Given the description of an element on the screen output the (x, y) to click on. 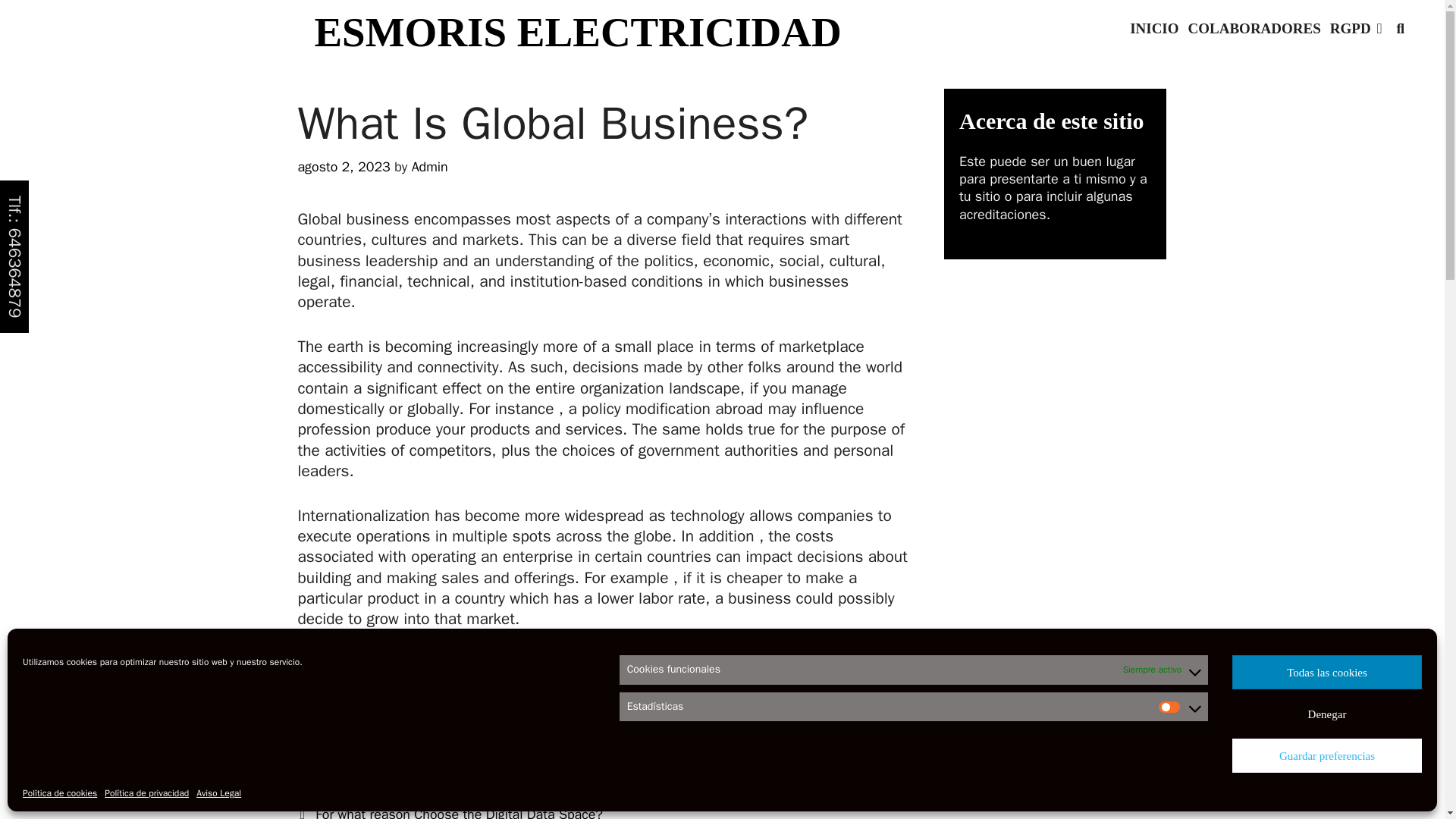
Aviso Legal (218, 793)
View all posts by Admin (430, 166)
INICIO (1153, 28)
RGPD (1355, 28)
Previous (449, 812)
Search (144, 23)
agosto 2, 2023 (343, 166)
12:00 am (343, 166)
Todas las cookies (1326, 672)
